Given the description of an element on the screen output the (x, y) to click on. 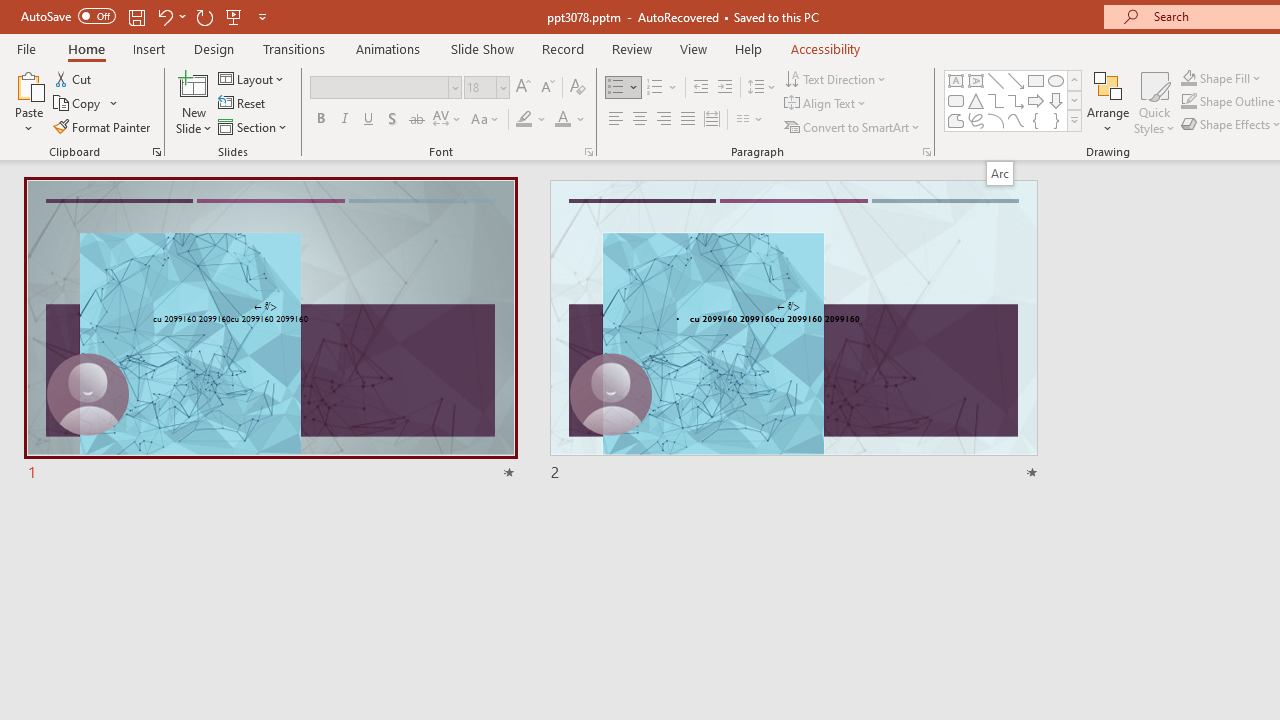
Reset (243, 103)
Oval (1055, 80)
Freeform: Shape (955, 120)
Connector: Elbow Arrow (1016, 100)
Layout (252, 78)
